Given the description of an element on the screen output the (x, y) to click on. 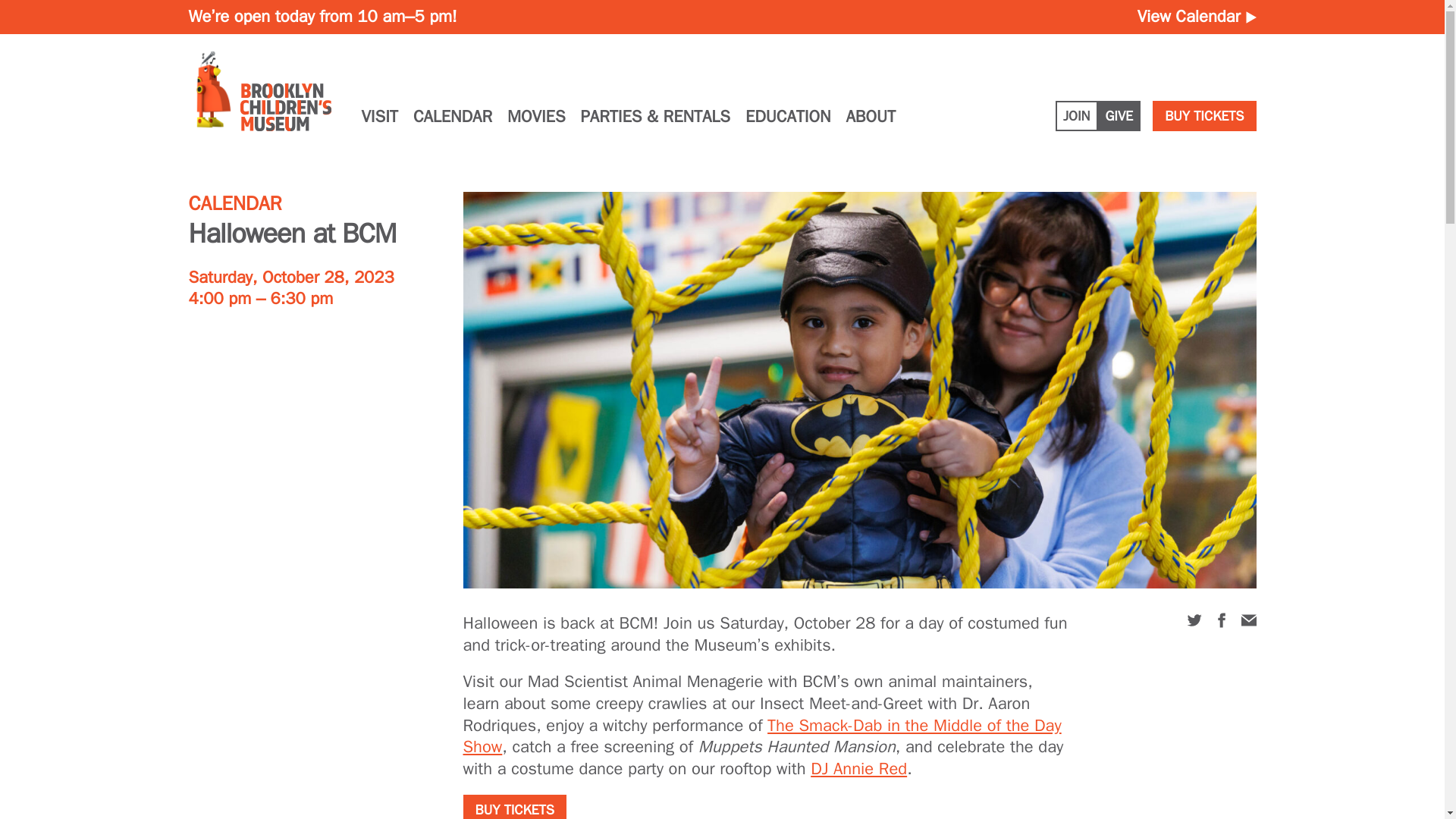
JOIN (1076, 115)
View Calendar (1196, 16)
GIVE (1119, 115)
EDUCATION (788, 115)
BUY TICKETS (1204, 115)
Share via Email (1248, 620)
ABOUT (871, 115)
VISIT (379, 115)
Share on Facebook (1221, 620)
MOVIES (535, 115)
